Given the description of an element on the screen output the (x, y) to click on. 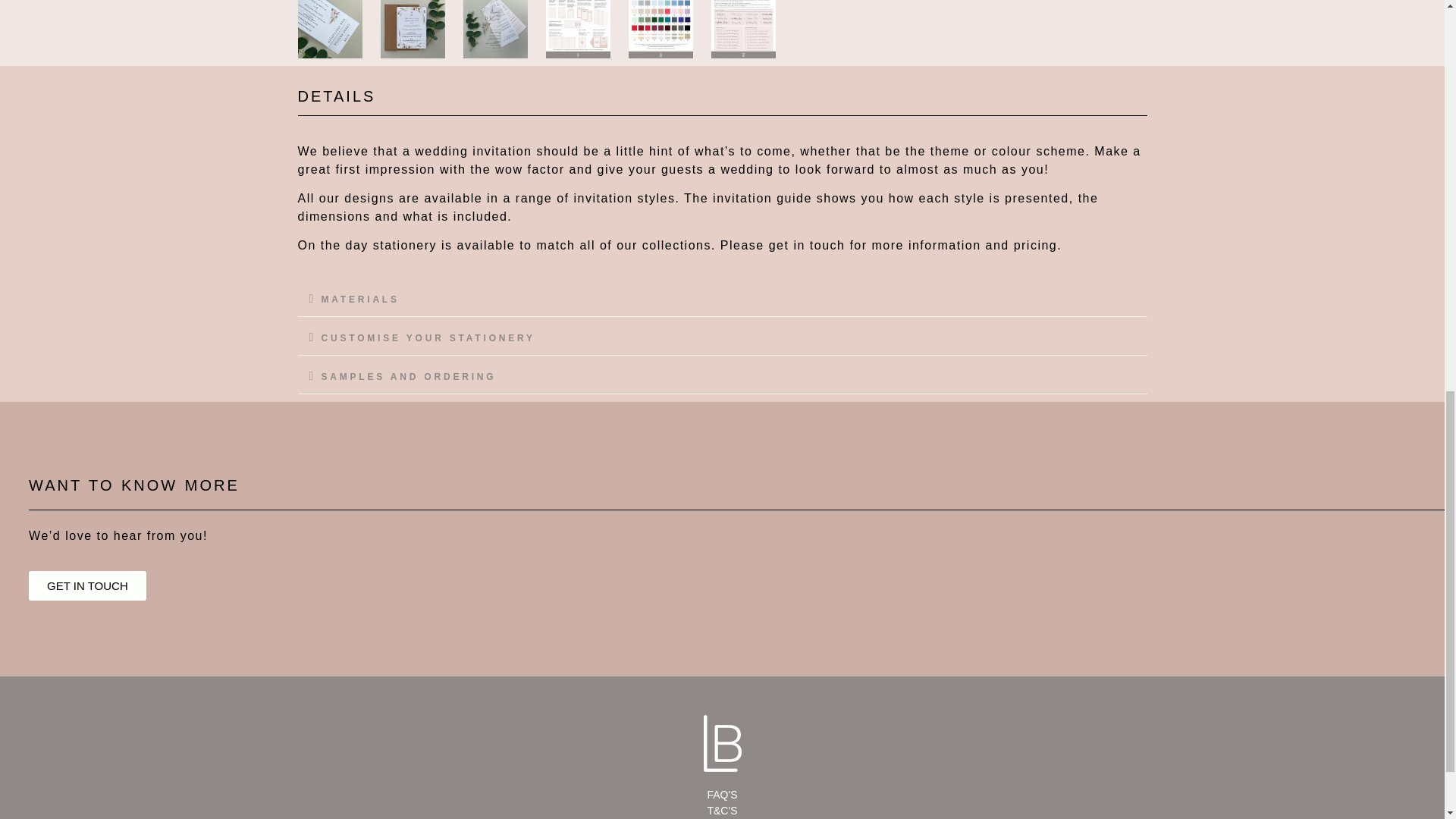
GET IN TOUCH (88, 585)
CUSTOMISE YOUR STATIONERY (428, 337)
FAQ'S (721, 795)
SAMPLES AND ORDERING (408, 376)
MATERIALS (359, 299)
